Given the description of an element on the screen output the (x, y) to click on. 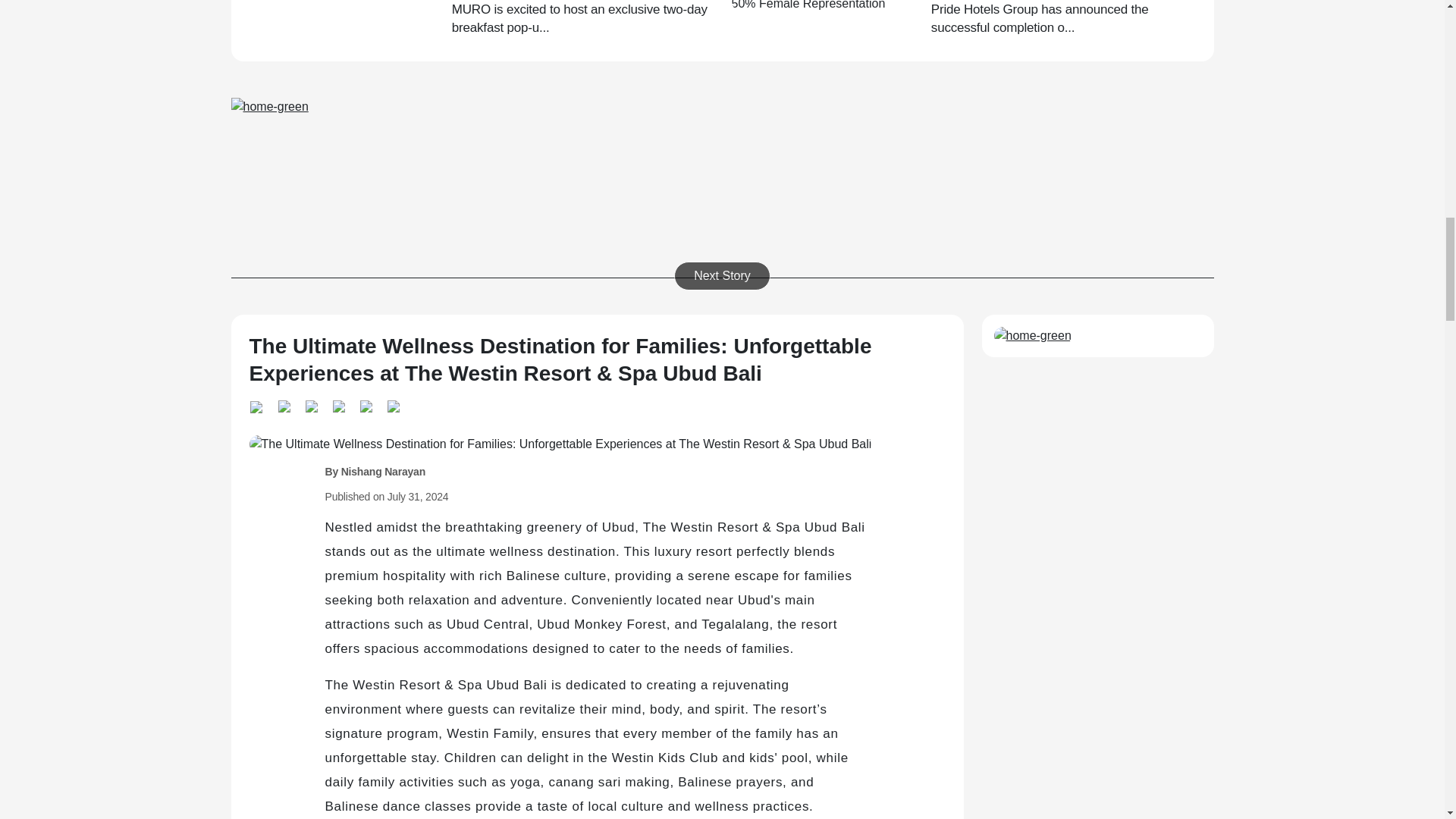
Linkedin (283, 404)
Facebook (338, 404)
Copy (365, 404)
Save (392, 404)
Twitter (310, 404)
Whatsapp (258, 404)
